Given the description of an element on the screen output the (x, y) to click on. 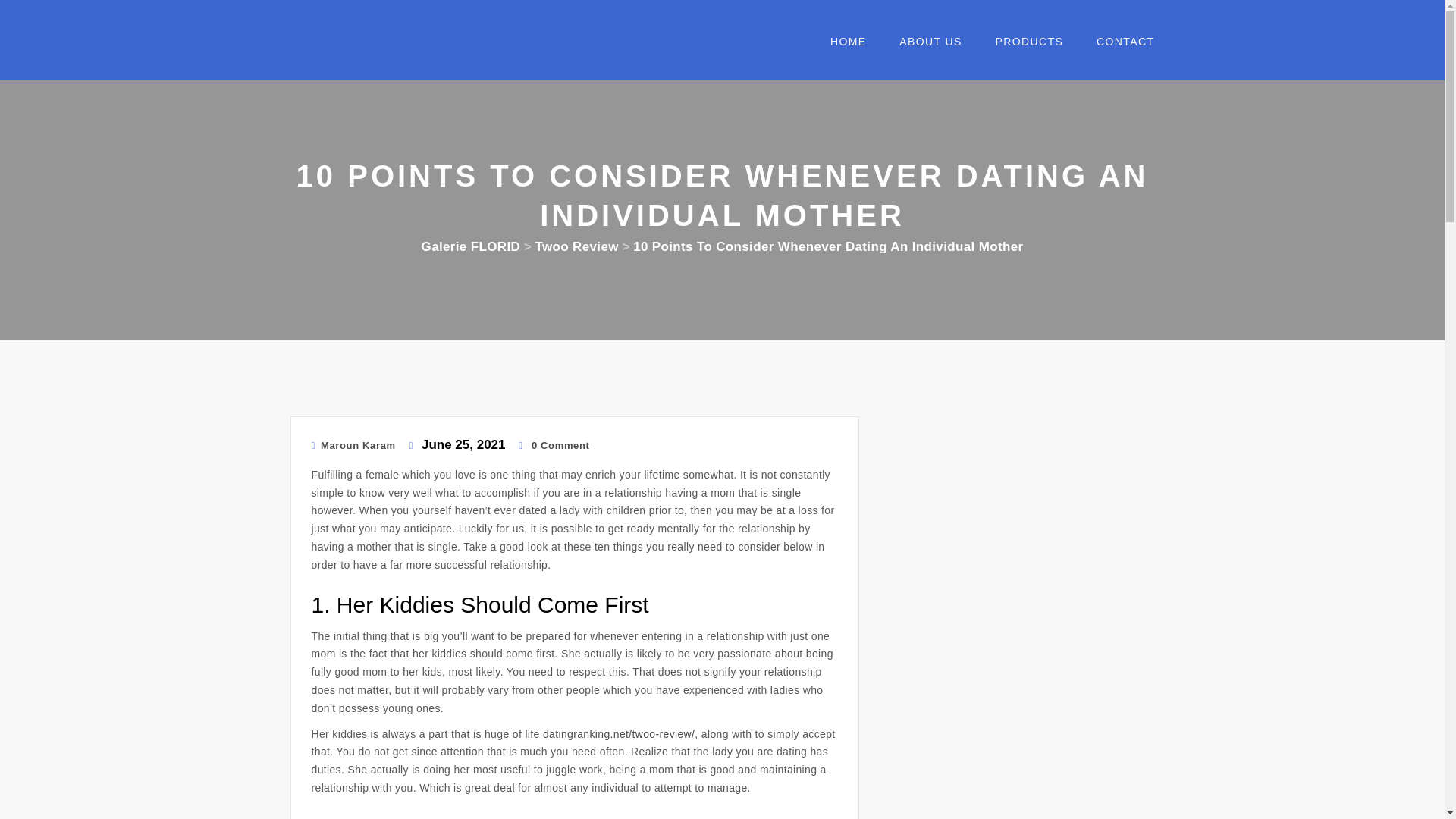
Go to the Twoo review category archives. (575, 246)
HOME (842, 45)
0 Comment (553, 445)
CONTACT (1119, 45)
Products (1024, 45)
Twoo Review (575, 246)
ABOUT US (924, 45)
Home (842, 45)
Maroun Karam (352, 445)
Go to Galerie FLORID. (471, 246)
Galerie FLORID (471, 246)
PRODUCTS (1024, 45)
About Us (924, 45)
Contact (1119, 45)
